Given the description of an element on the screen output the (x, y) to click on. 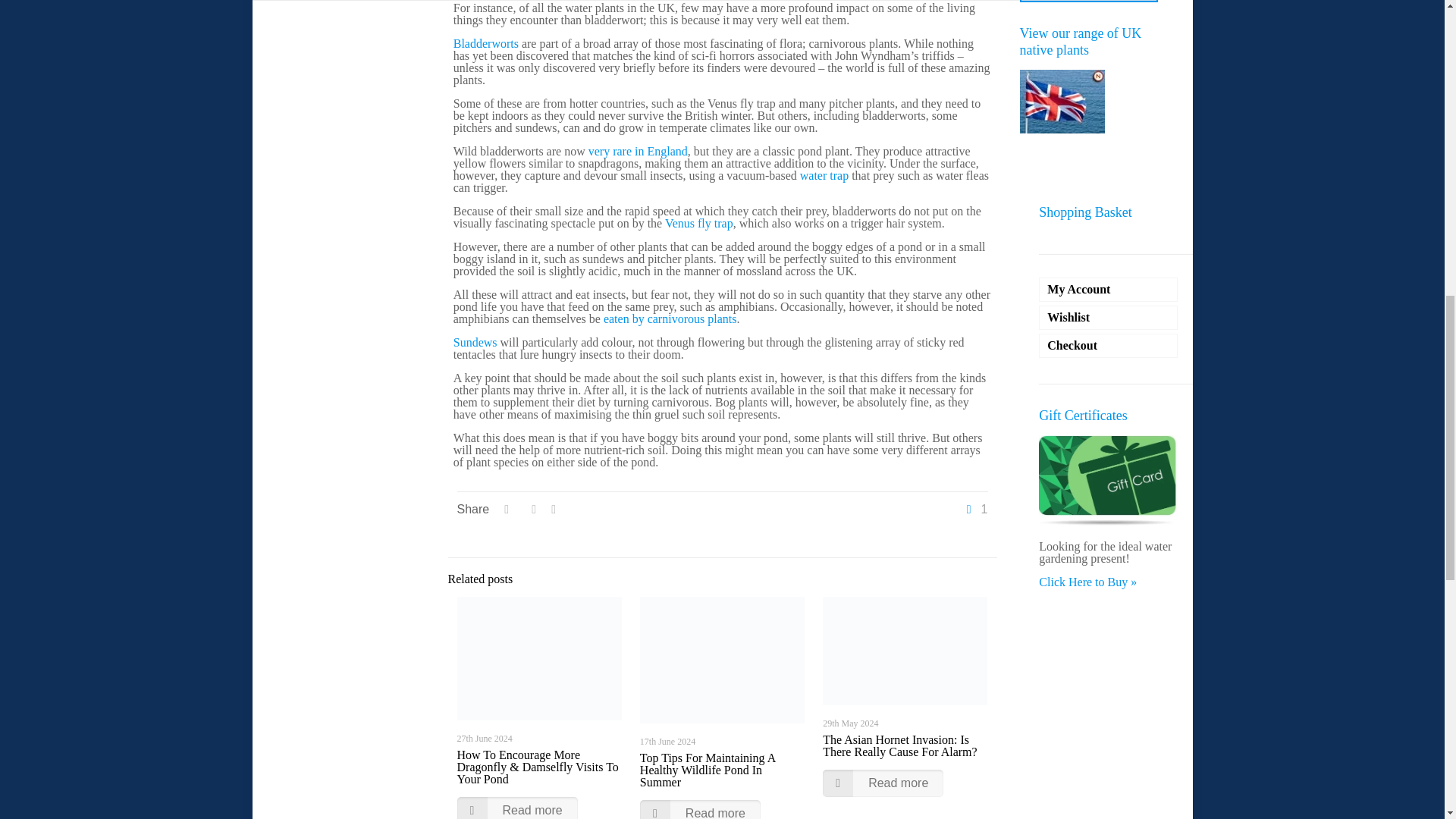
Top Tips For Maintaining A Healthy Wildlife Pond In Summer (707, 769)
Sundews (474, 341)
Venus fly trap (699, 223)
1 (975, 509)
Read more (700, 809)
water trap (823, 174)
very rare in England (637, 151)
eaten by carnivorous plants (670, 318)
Read more (516, 807)
Bladderworts (485, 42)
